Given the description of an element on the screen output the (x, y) to click on. 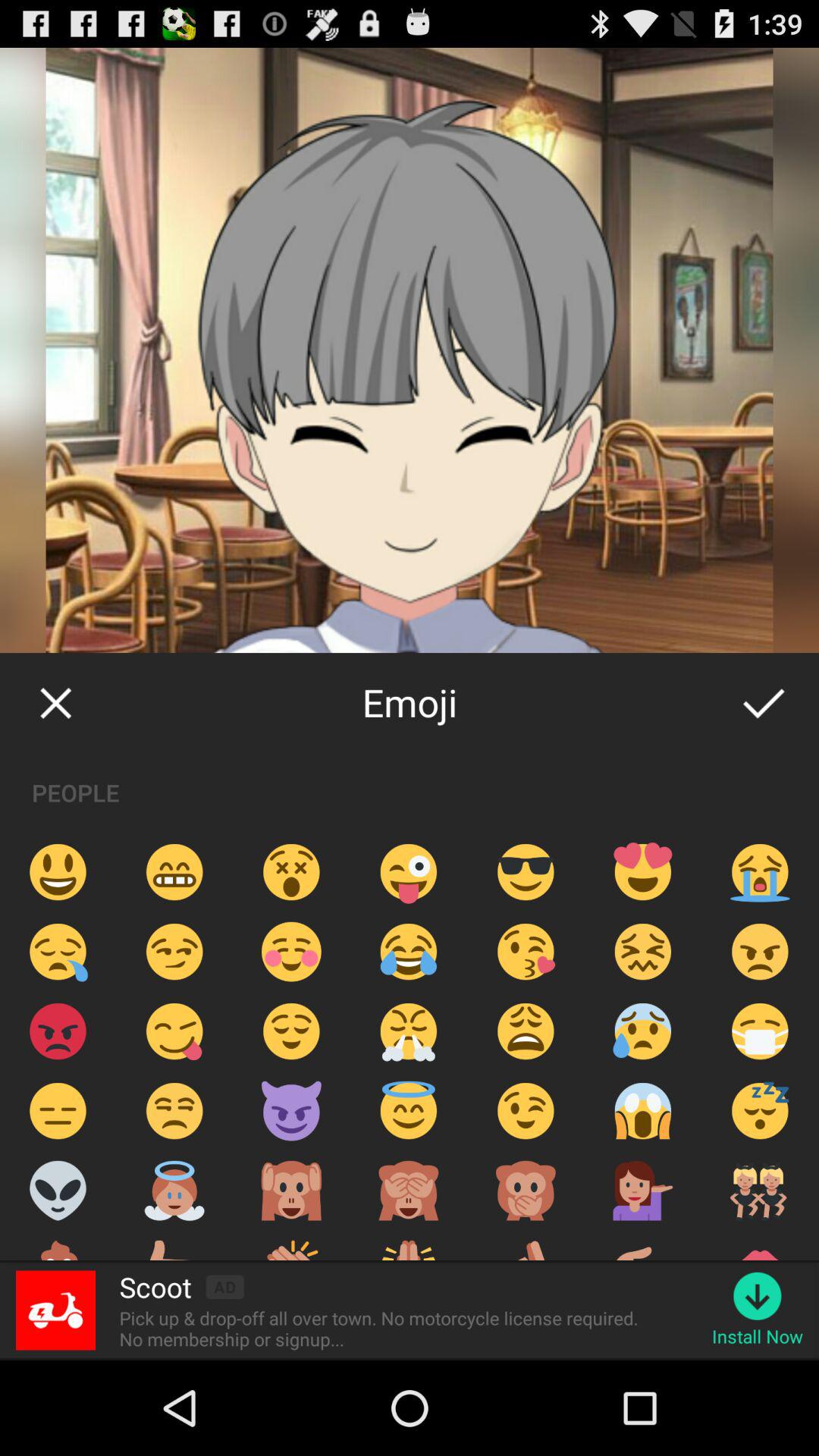
click the item above people icon (55, 702)
